Given the description of an element on the screen output the (x, y) to click on. 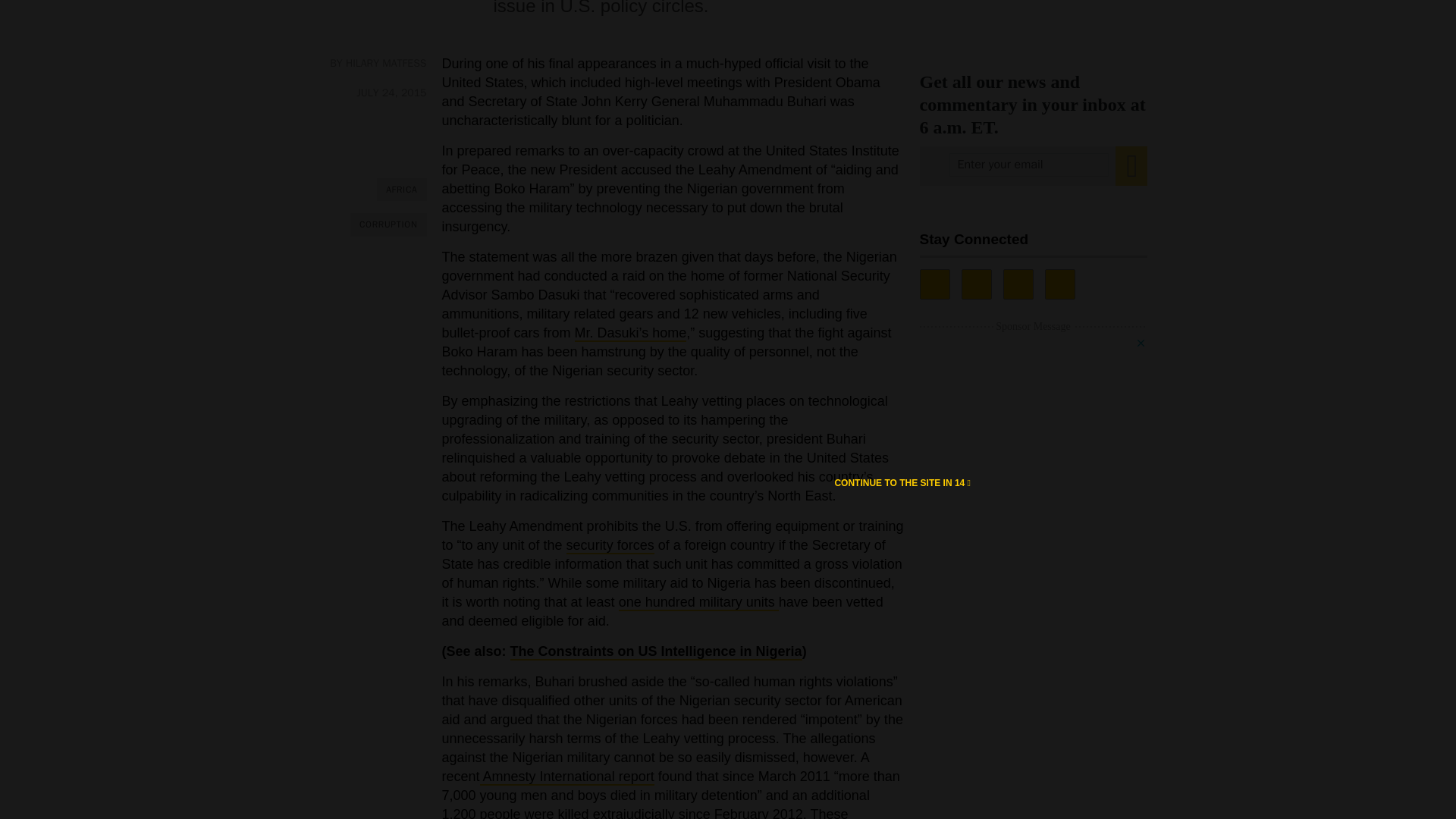
3rd party ad content (1032, 16)
